Given the description of an element on the screen output the (x, y) to click on. 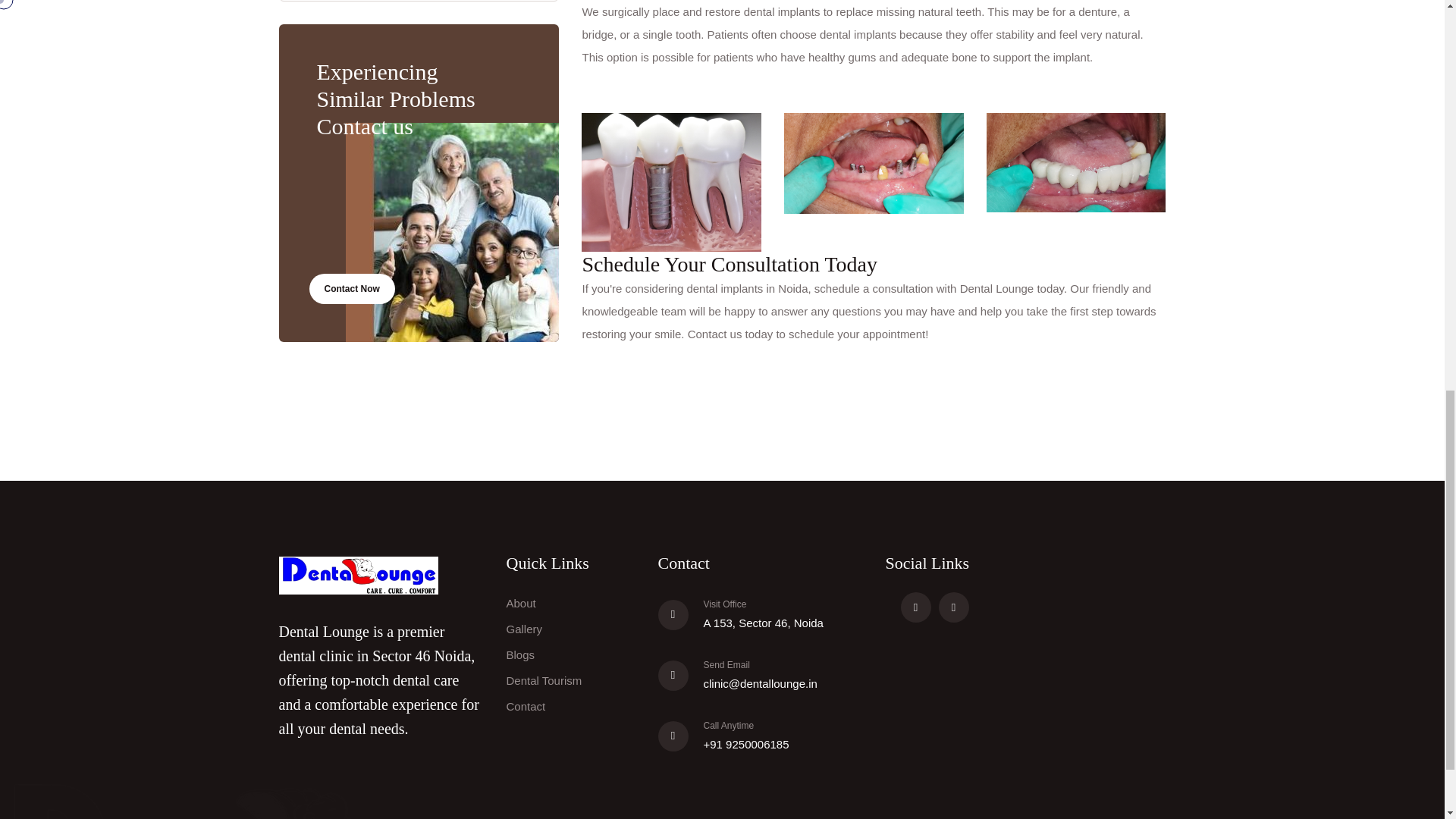
Contact Now (351, 288)
About (520, 603)
Blogs (520, 654)
Dental Tourism (544, 680)
Contact (526, 706)
Gallery (524, 628)
